Given the description of an element on the screen output the (x, y) to click on. 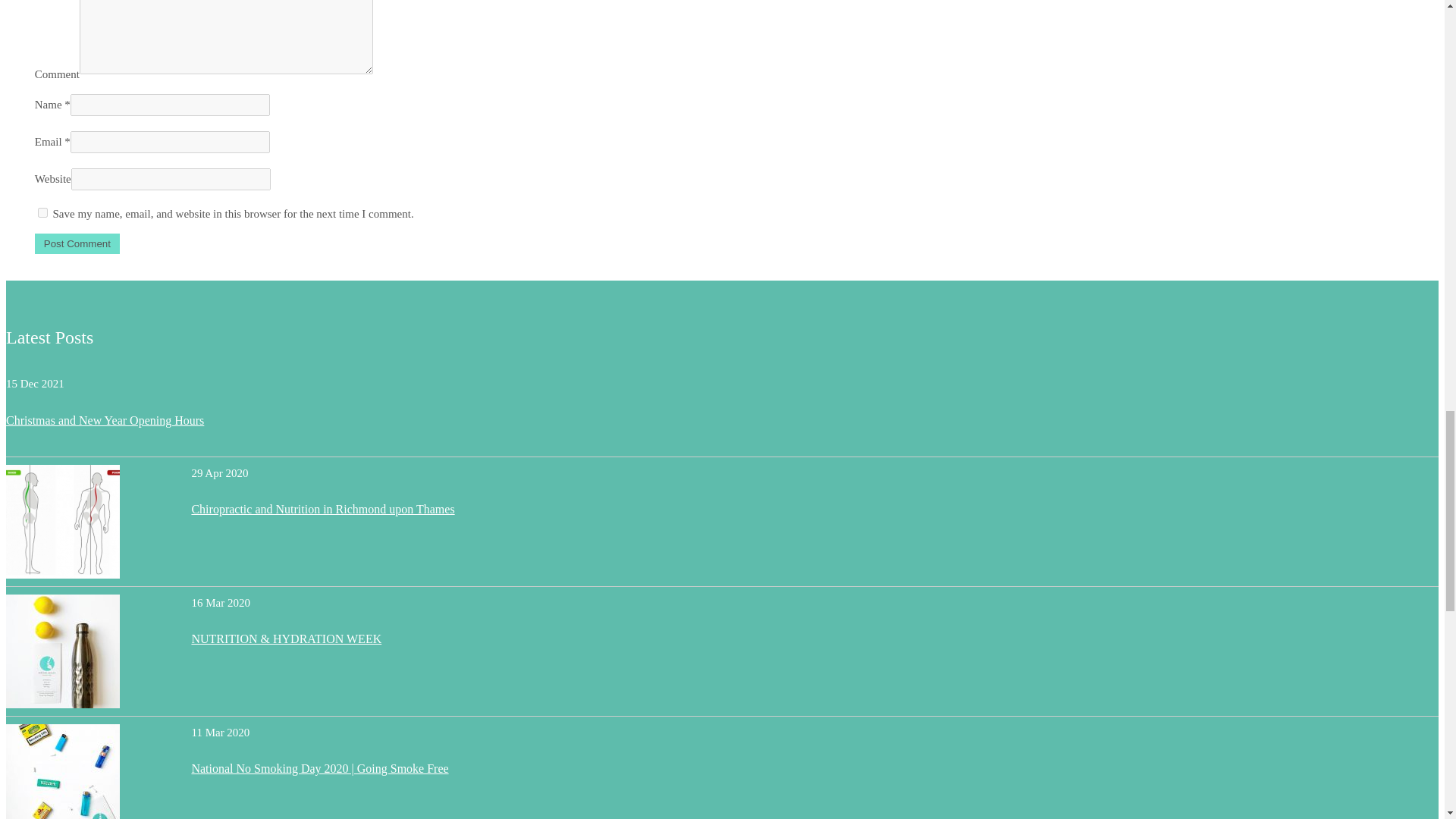
Post Comment (76, 243)
Chiropractic and Nutrition in Richmond upon Thames (322, 508)
Christmas and New Year Opening Hours (104, 420)
Post Comment (76, 243)
Chiropractic and Nutrition in Richmond upon Thames (322, 508)
Christmas and New Year Opening Hours (104, 420)
yes (42, 212)
